Given the description of an element on the screen output the (x, y) to click on. 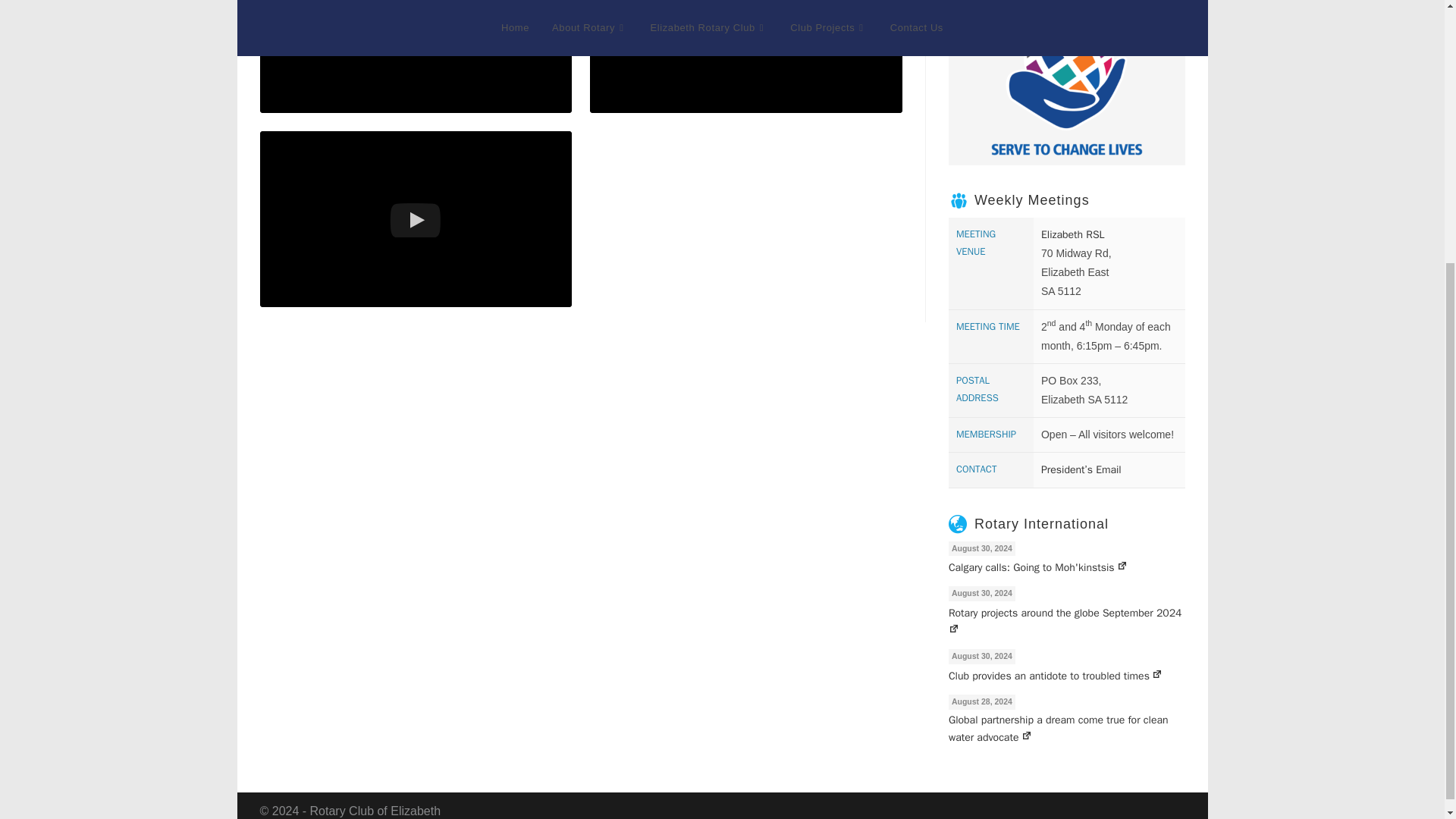
Calgary calls: Going to Moh'kinstsis (1067, 566)
What in the World is Rotary? (415, 219)
Rotary - We're for Communities (415, 56)
Rotary Inspirational Presentation Video (745, 56)
Rotary International (1041, 523)
Elizabeth RSL (1073, 234)
